Given the description of an element on the screen output the (x, y) to click on. 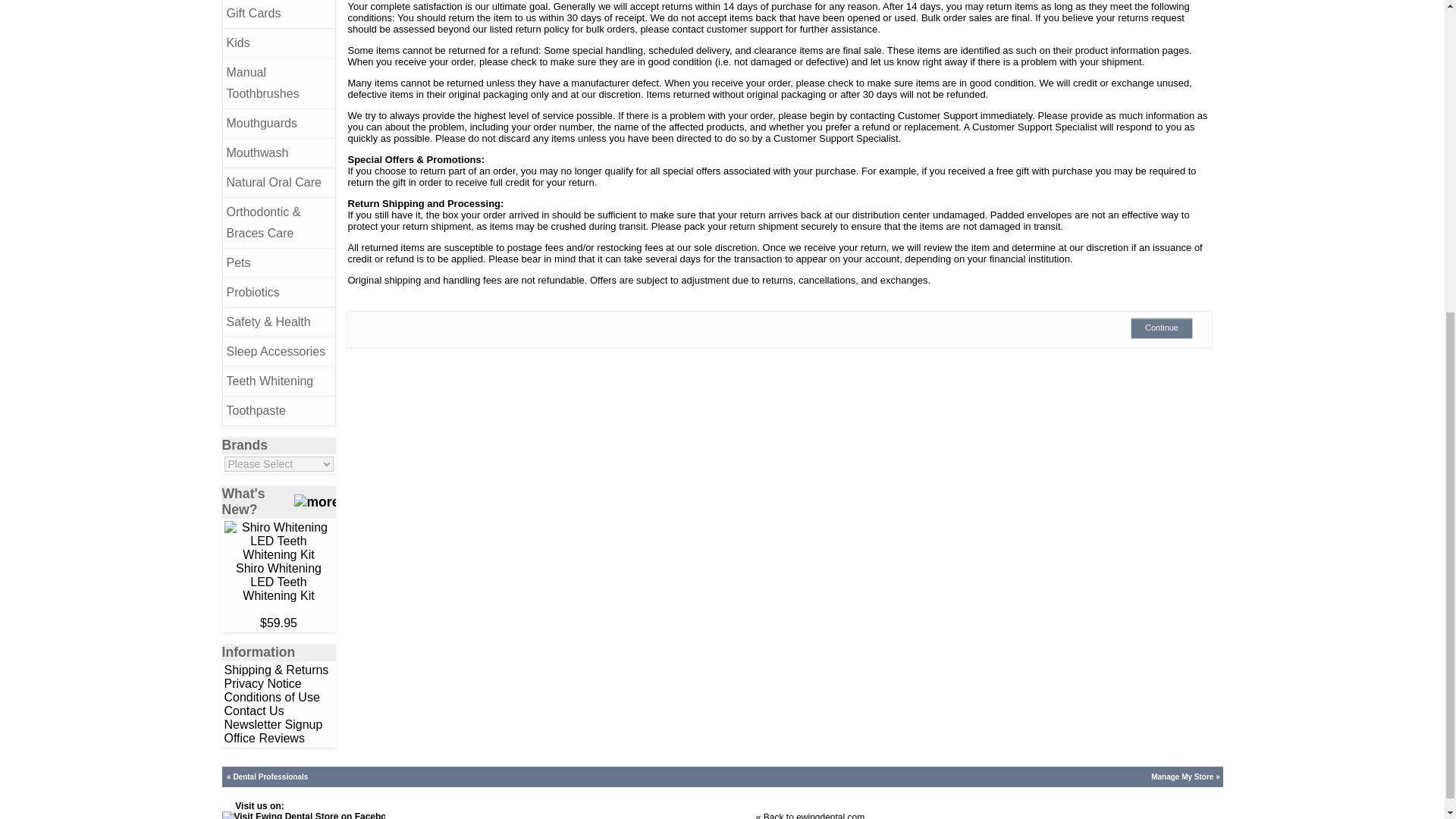
Natural Oral Care (278, 182)
Teeth Whitening (278, 380)
Office Reviews (264, 738)
Conditions of Use (272, 697)
Newsletter Signup (273, 724)
Toothpaste (278, 410)
Manual Toothbrushes (278, 82)
Mouthguards (278, 123)
Sleep Accessories (278, 351)
Mouthwash (278, 152)
Contact Us (253, 710)
Gift Cards (278, 13)
 more  (314, 502)
Privacy Notice (262, 683)
Probiotics (278, 292)
